Given the description of an element on the screen output the (x, y) to click on. 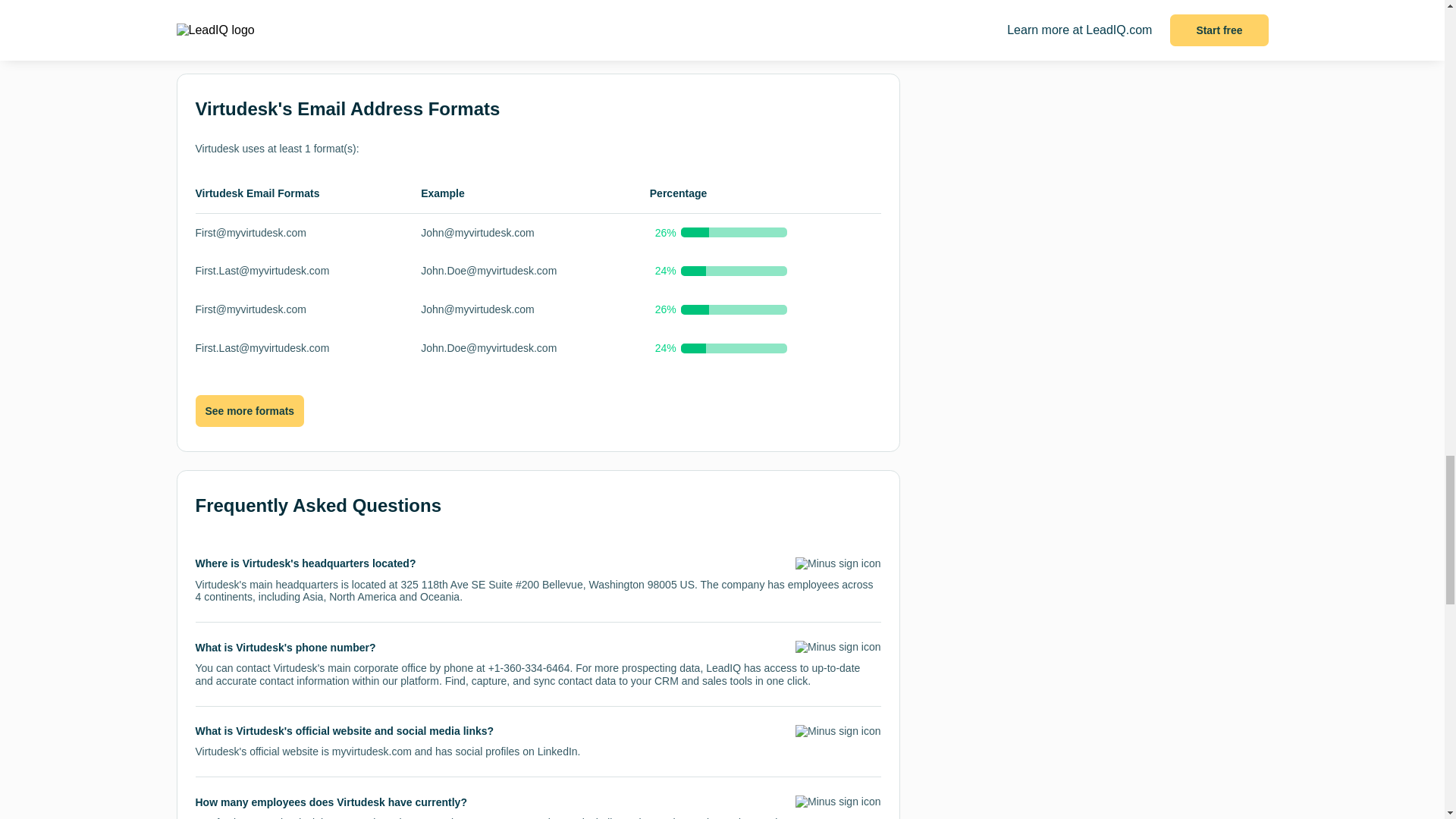
myvirtudesk.com (371, 751)
See more formats (249, 411)
See more formats (249, 410)
LinkedIn (557, 751)
